Given the description of an element on the screen output the (x, y) to click on. 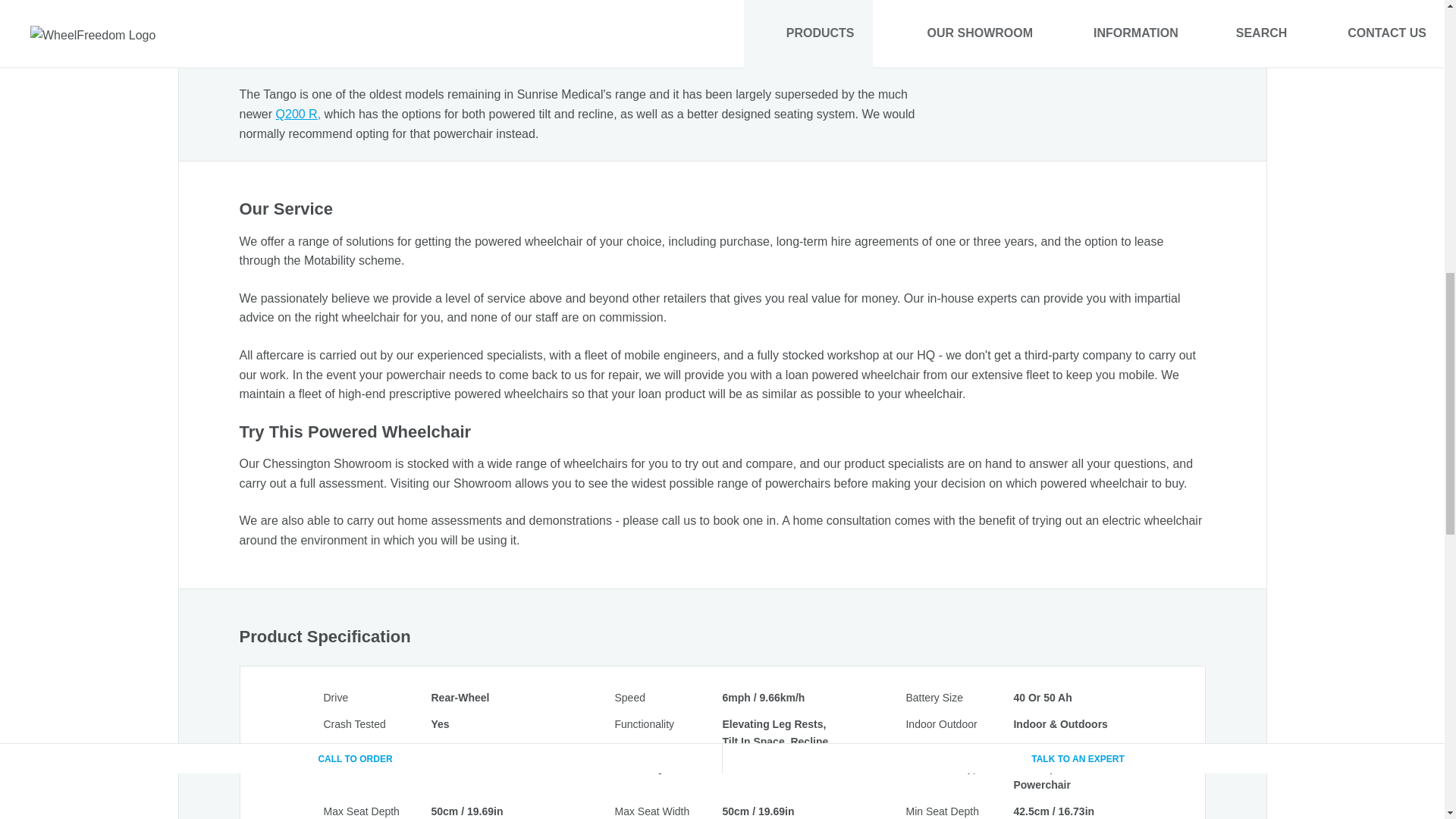
Q200 R, (298, 113)
